Given the description of an element on the screen output the (x, y) to click on. 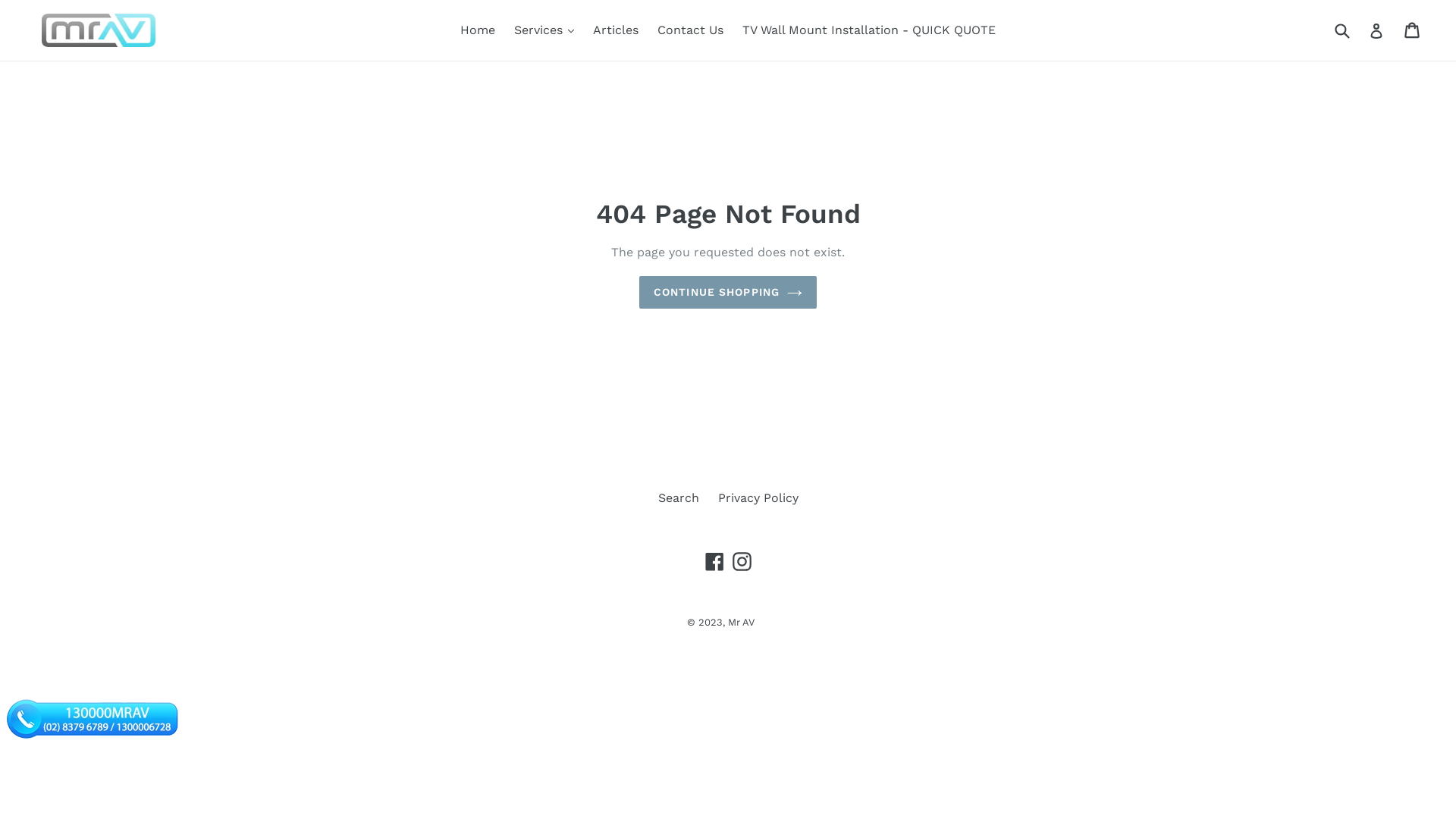
TV Wall Mount Installation - QUICK QUOTE Element type: text (868, 29)
Log in Element type: text (1375, 30)
Privacy Policy Element type: text (757, 497)
CONTINUE SHOPPING Element type: text (727, 292)
Facebook Element type: text (713, 561)
Contact Us Element type: text (690, 29)
Cart
Cart Element type: text (1412, 29)
Submit Element type: text (1341, 29)
Mr AV Element type: text (741, 621)
Instagram Element type: text (741, 561)
Home Element type: text (477, 29)
Articles Element type: text (615, 29)
Search Element type: text (678, 497)
